Given the description of an element on the screen output the (x, y) to click on. 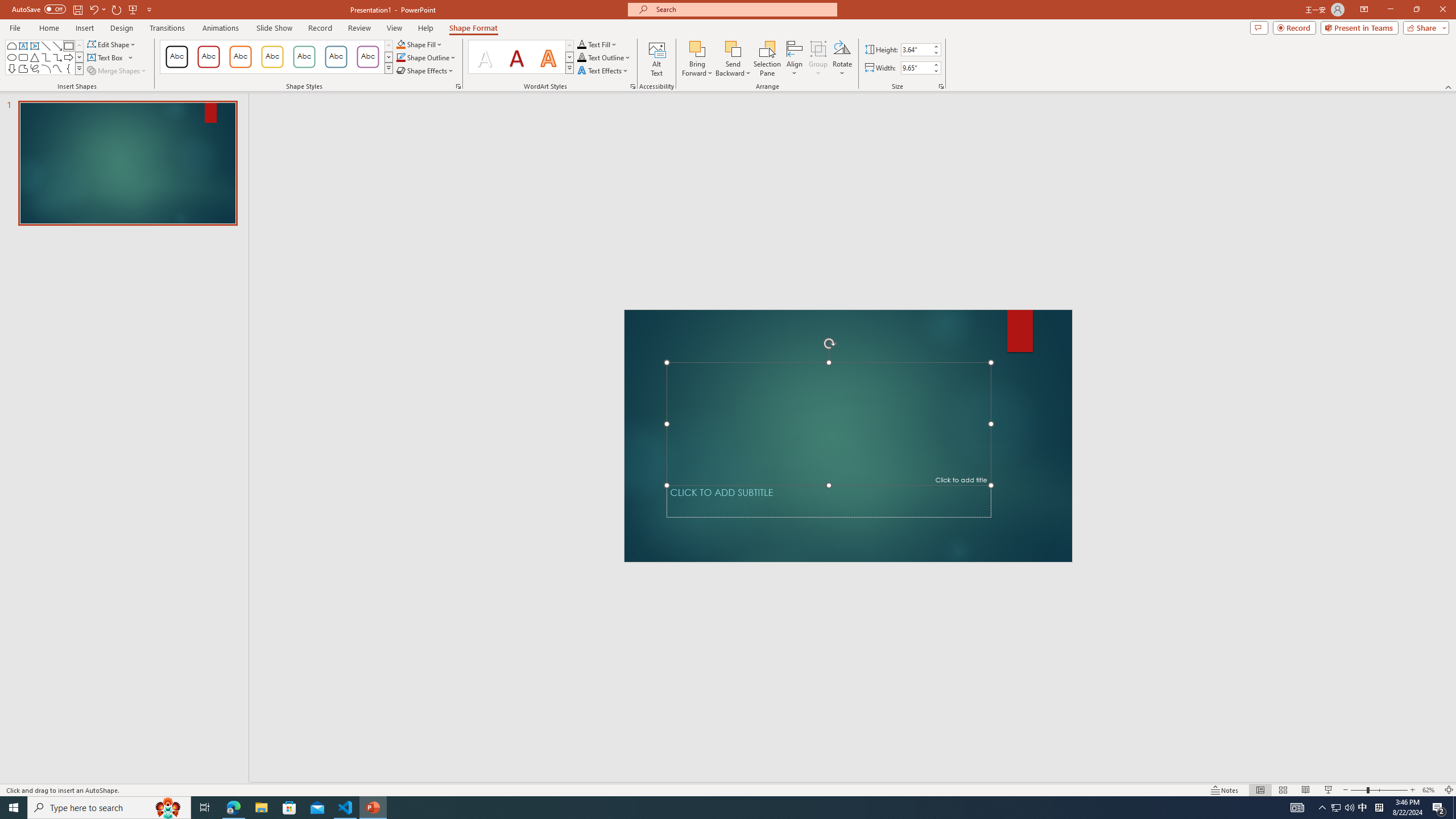
AutomationID: ShapeStylesGallery (276, 56)
Send Backward (733, 58)
Colored Outline - Blue-Gray, Accent 5 (336, 56)
Selection Pane... (767, 58)
Size and Position... (941, 85)
